Given the description of an element on the screen output the (x, y) to click on. 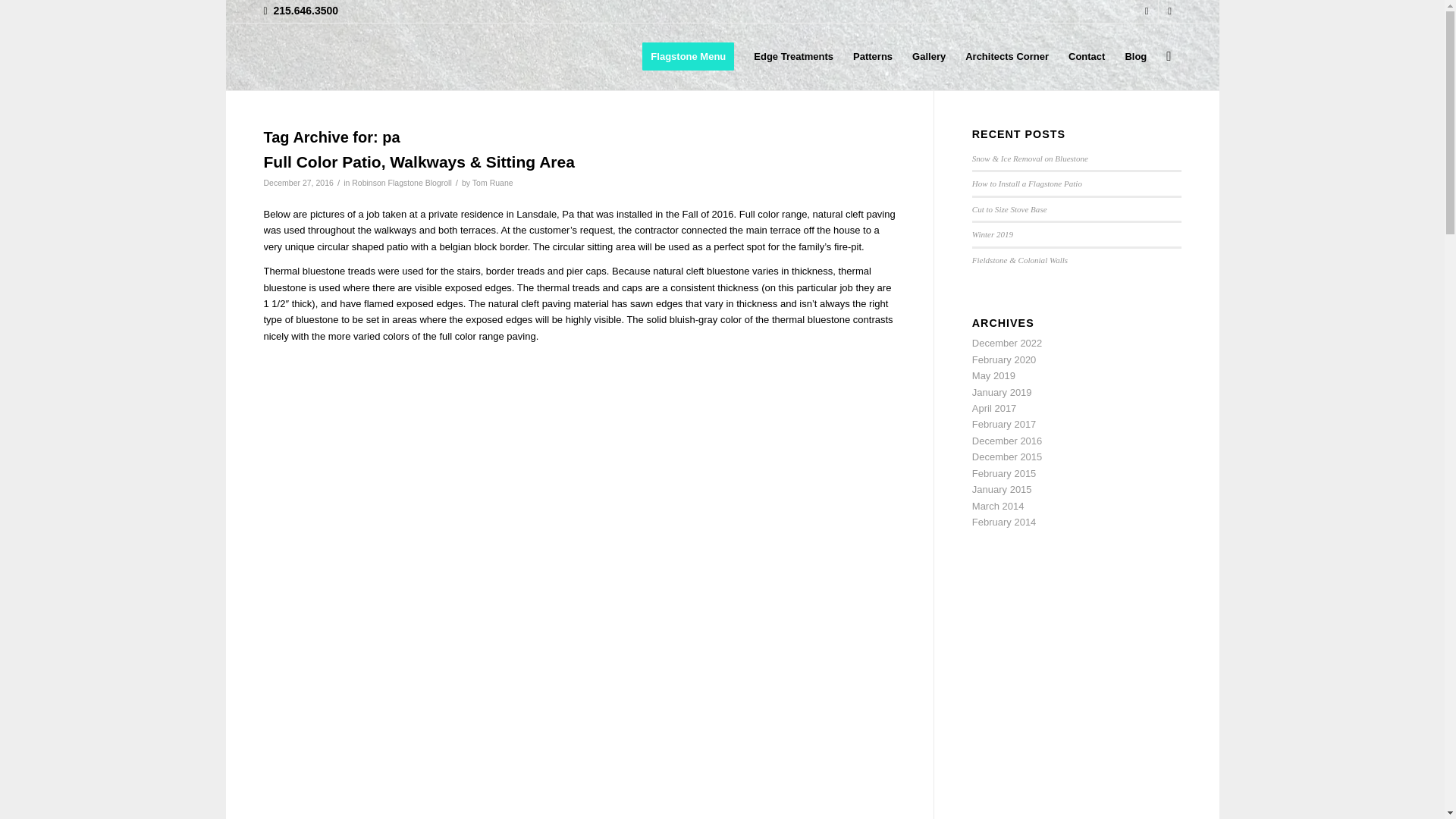
Robinson Flagstone Blogroll (401, 182)
Flagstone Menu (687, 56)
Posts by Tom Ruane (492, 182)
Tom Ruane (492, 182)
Edge Treatments (793, 56)
